Given the description of an element on the screen output the (x, y) to click on. 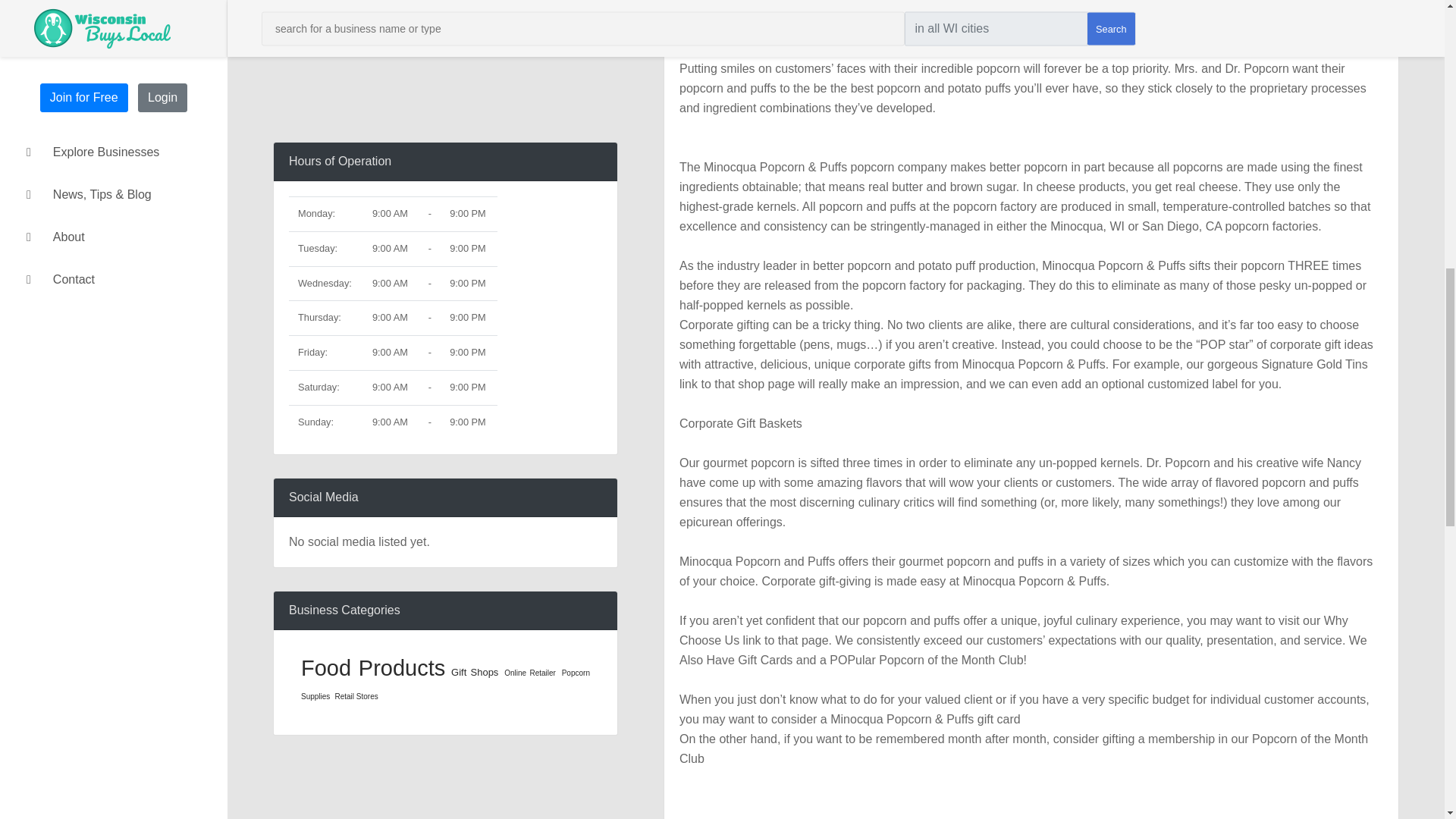
Advertisement (445, 61)
